Given the description of an element on the screen output the (x, y) to click on. 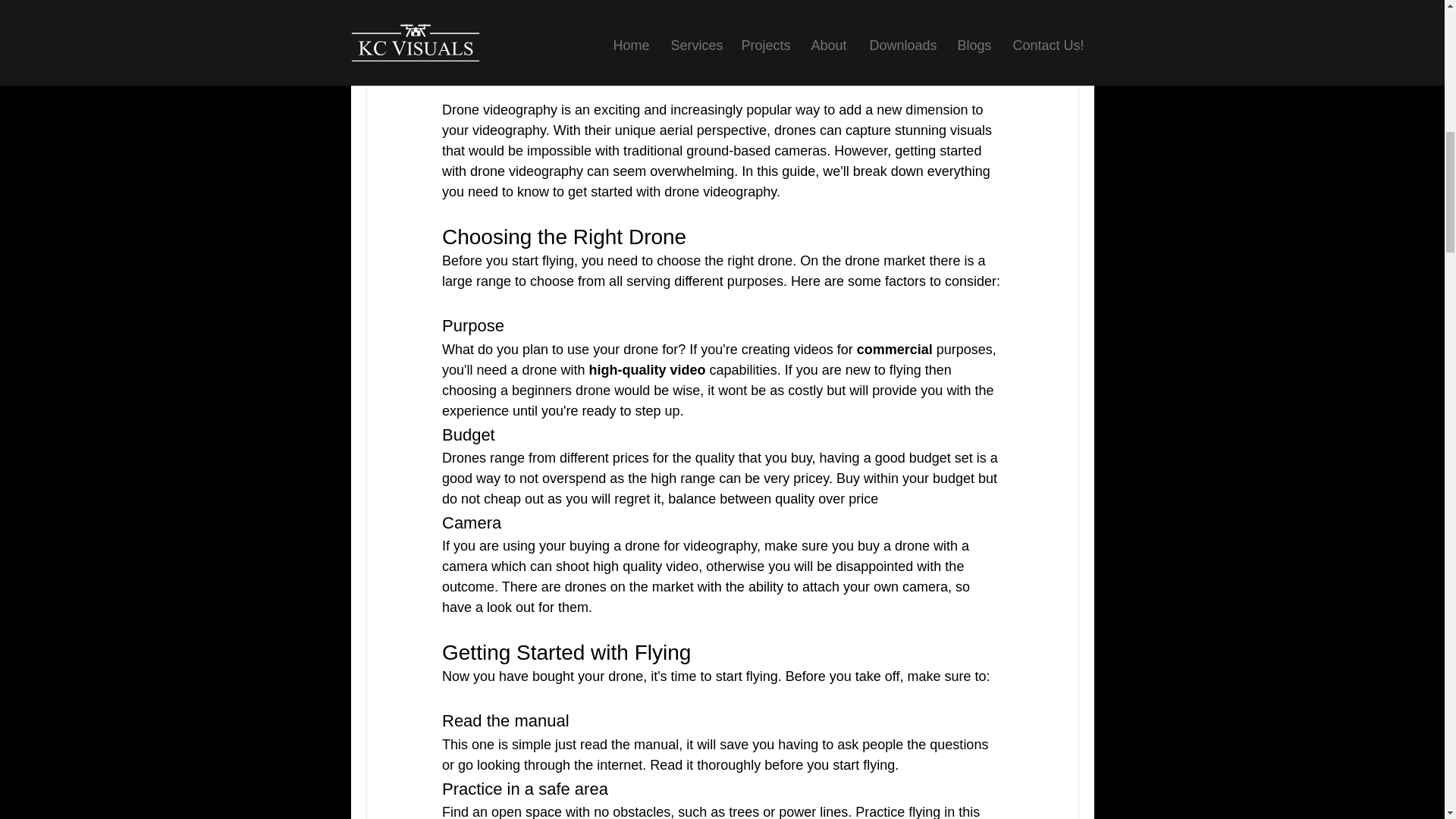
FAQs (485, 68)
Conclusion (501, 48)
Prioritising Safety (521, 7)
5 Key Things To Know (536, 28)
